Given the description of an element on the screen output the (x, y) to click on. 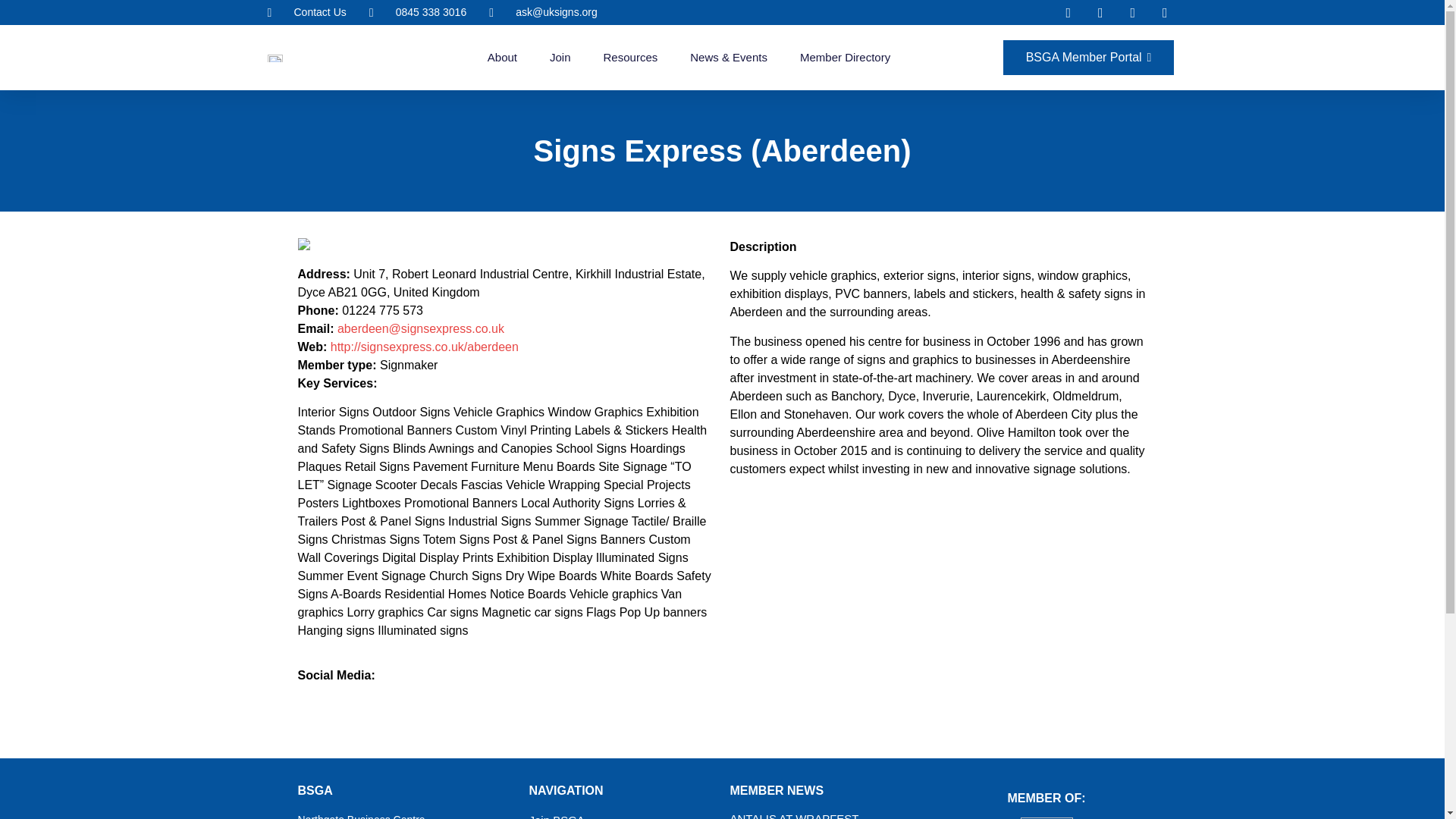
Member Directory (844, 57)
0845 338 3016 (417, 12)
Resources (631, 57)
Contact Us (306, 12)
